Given the description of an element on the screen output the (x, y) to click on. 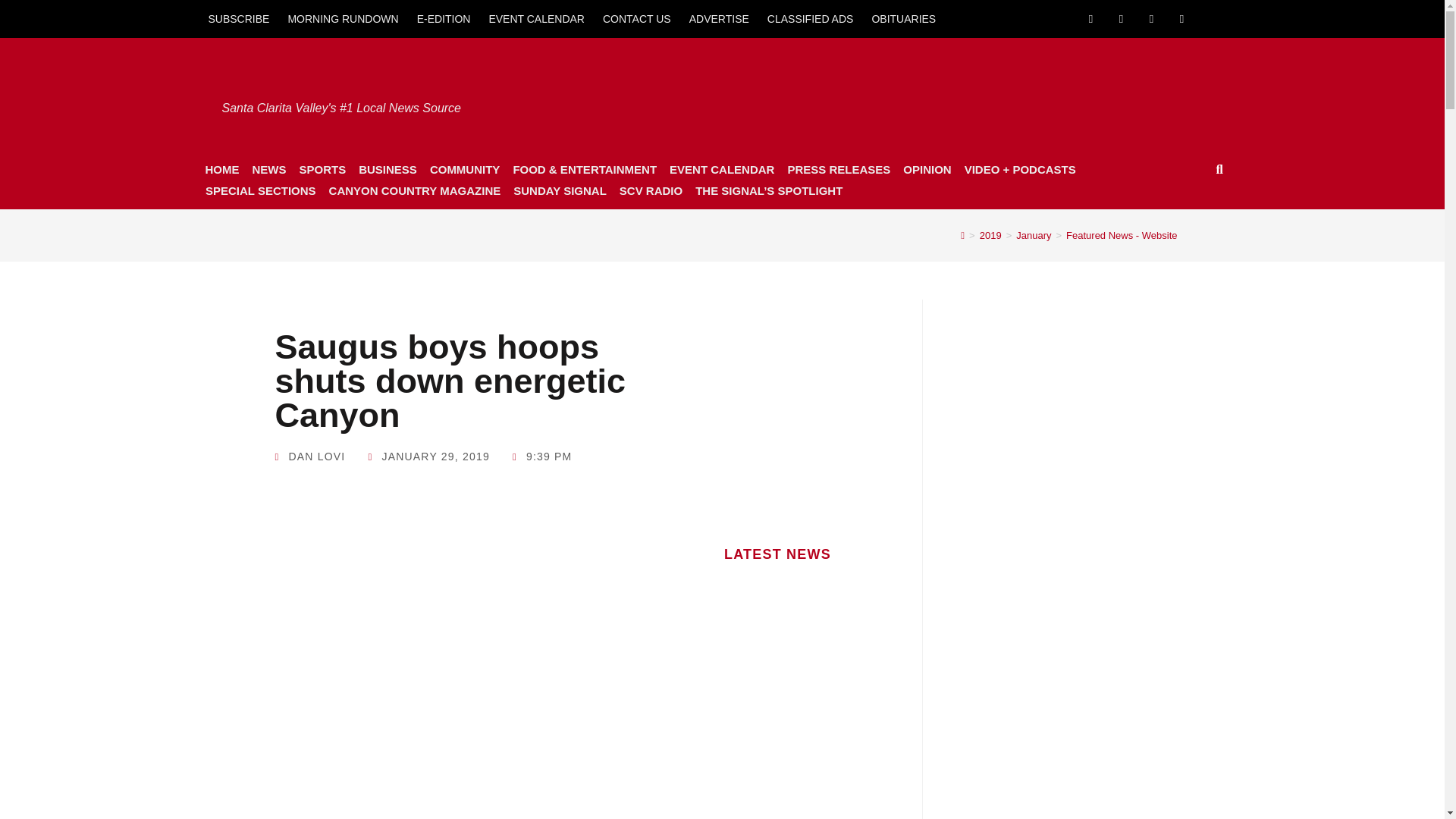
NEWS (269, 169)
ADVERTISE (718, 18)
EVENT CALENDAR (536, 18)
HOME (221, 169)
OBITUARIES (902, 18)
E-EDITION (443, 18)
SPORTS (322, 169)
MORNING RUNDOWN (342, 18)
SUBSCRIBE (238, 18)
CONTACT US (636, 18)
